Given the description of an element on the screen output the (x, y) to click on. 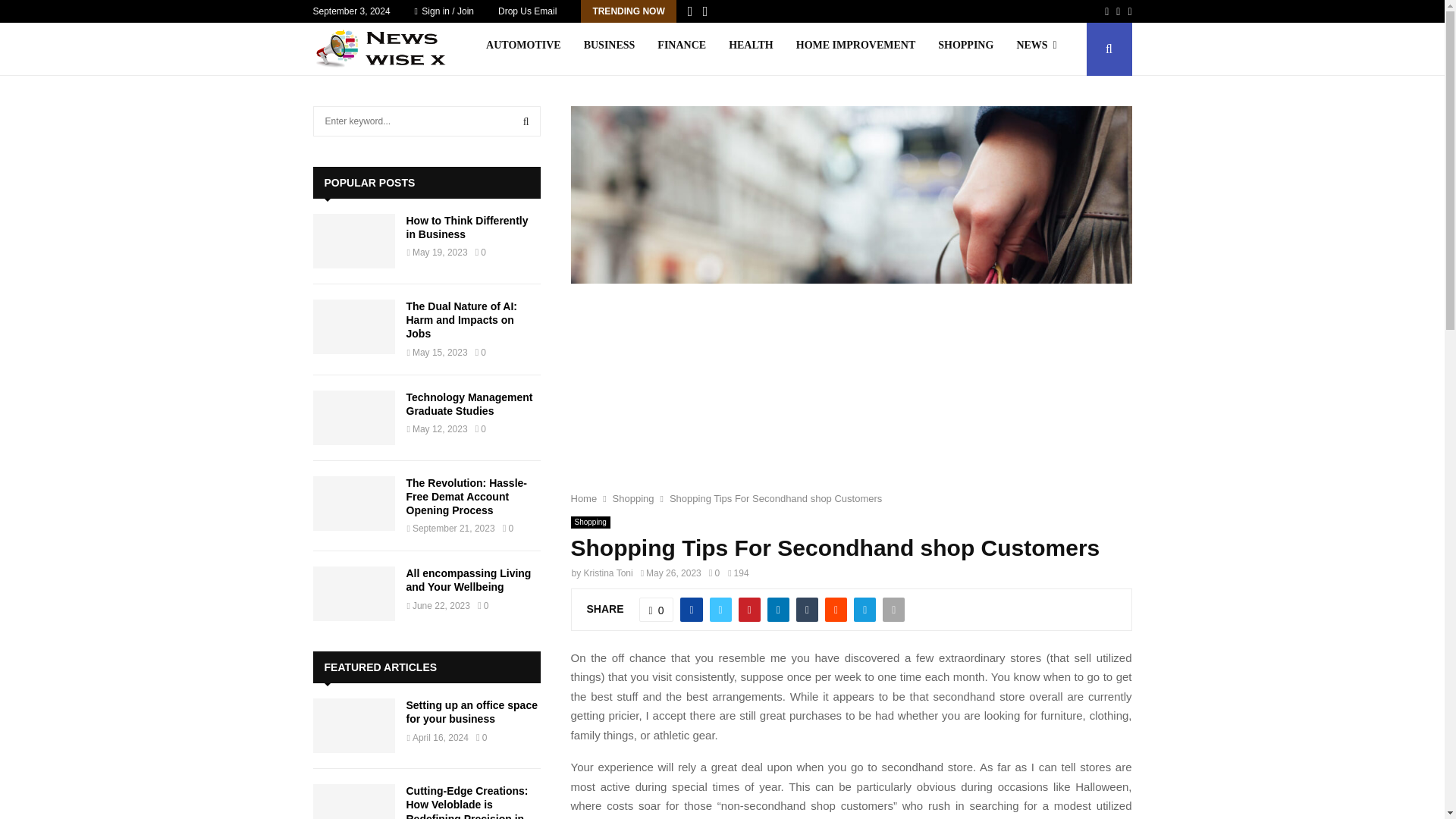
FINANCE (682, 49)
HOME IMPROVEMENT (855, 49)
Sign up new account (722, 415)
BUSINESS (608, 49)
Drop Us Email (526, 11)
AUTOMOTIVE (523, 49)
Like (656, 609)
Login to your account (722, 293)
SHOPPING (964, 49)
